Given the description of an element on the screen output the (x, y) to click on. 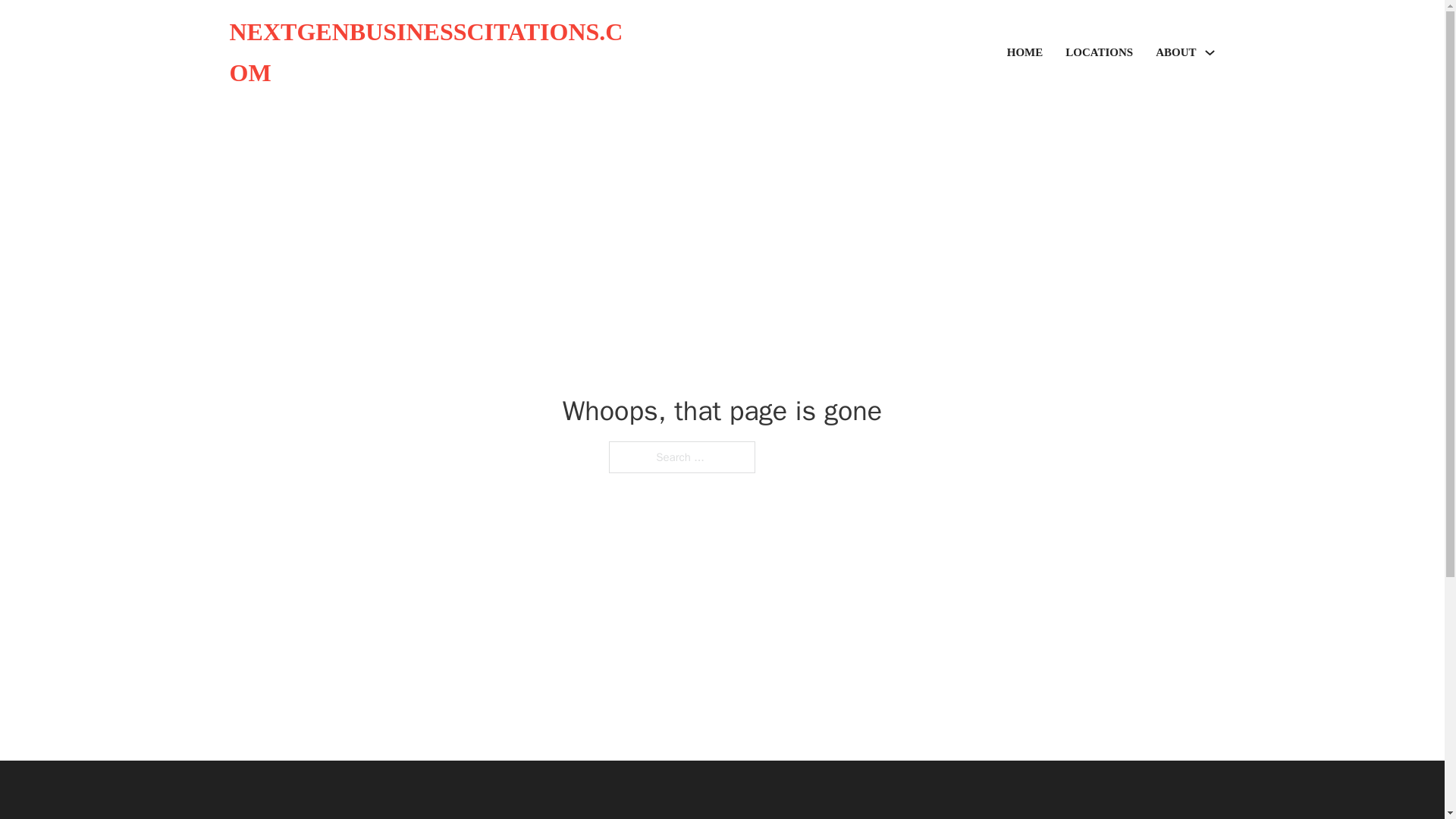
LOCATIONS (1098, 53)
HOME (1025, 53)
NEXTGENBUSINESSCITATIONS.COM (425, 52)
